Given the description of an element on the screen output the (x, y) to click on. 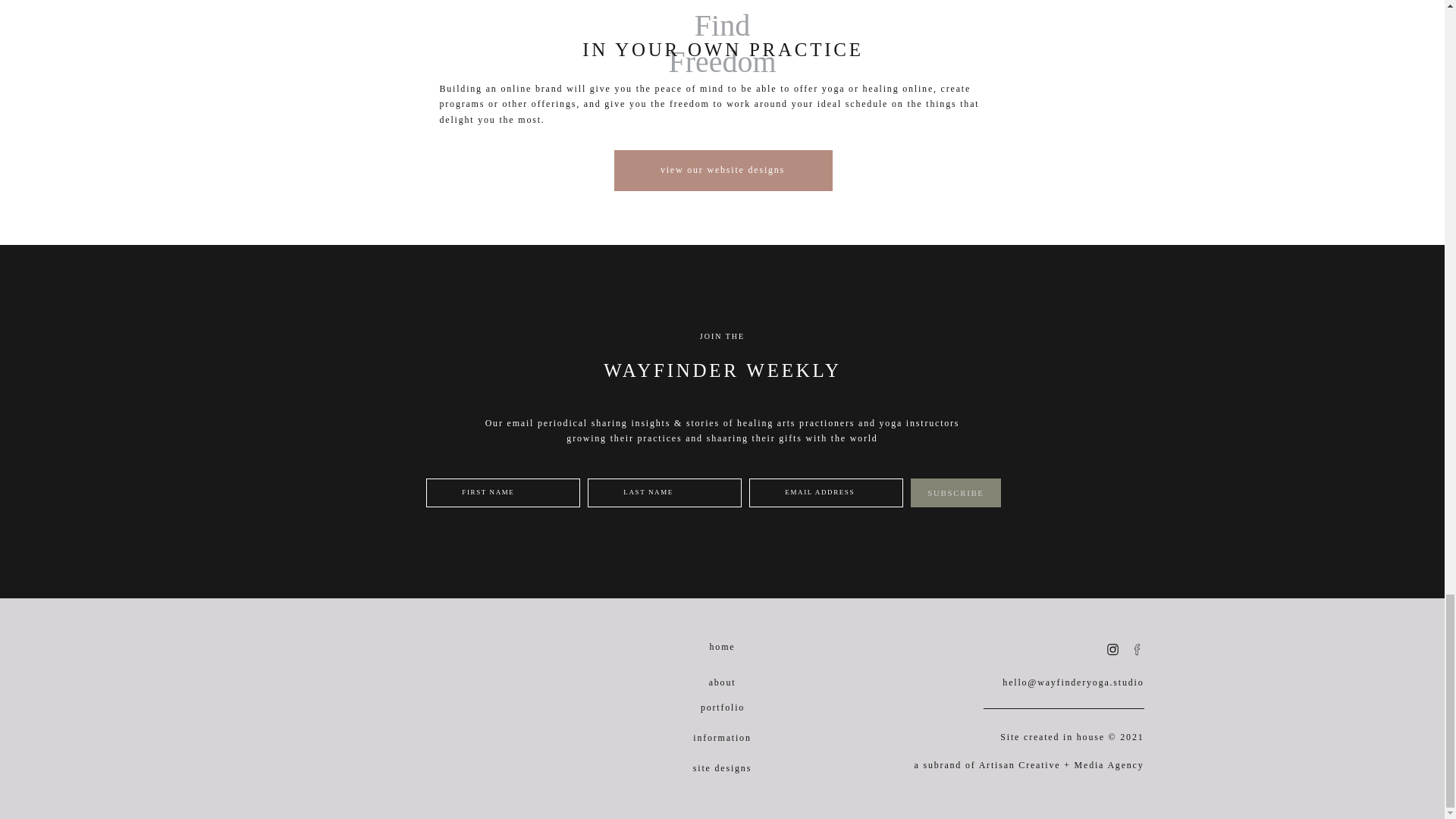
view our website designs (722, 170)
SUBSCRIBE (955, 492)
